Given the description of an element on the screen output the (x, y) to click on. 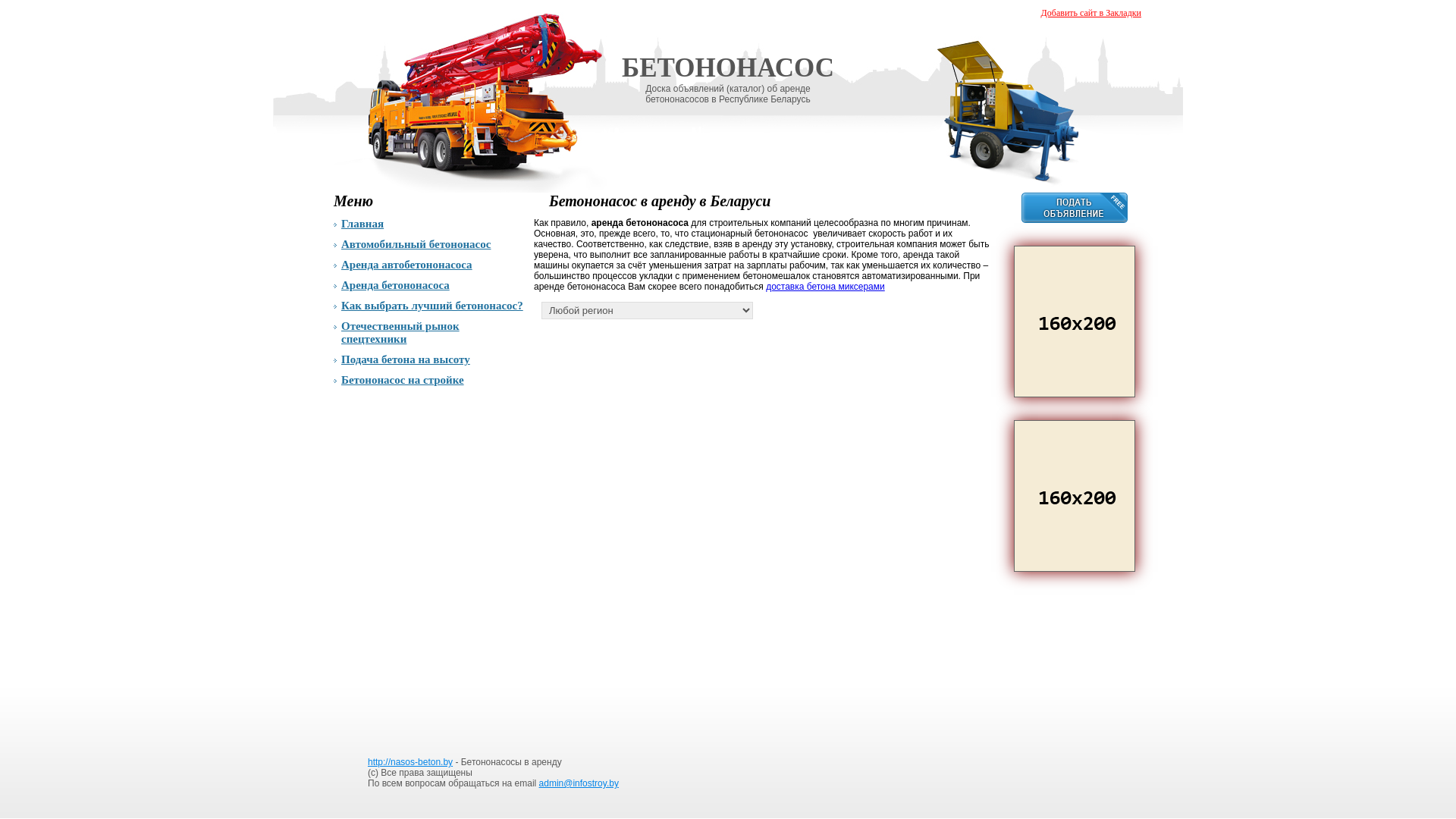
http://nasos-beton.by Element type: text (409, 761)
admin@infostroy.by Element type: text (578, 783)
